Given the description of an element on the screen output the (x, y) to click on. 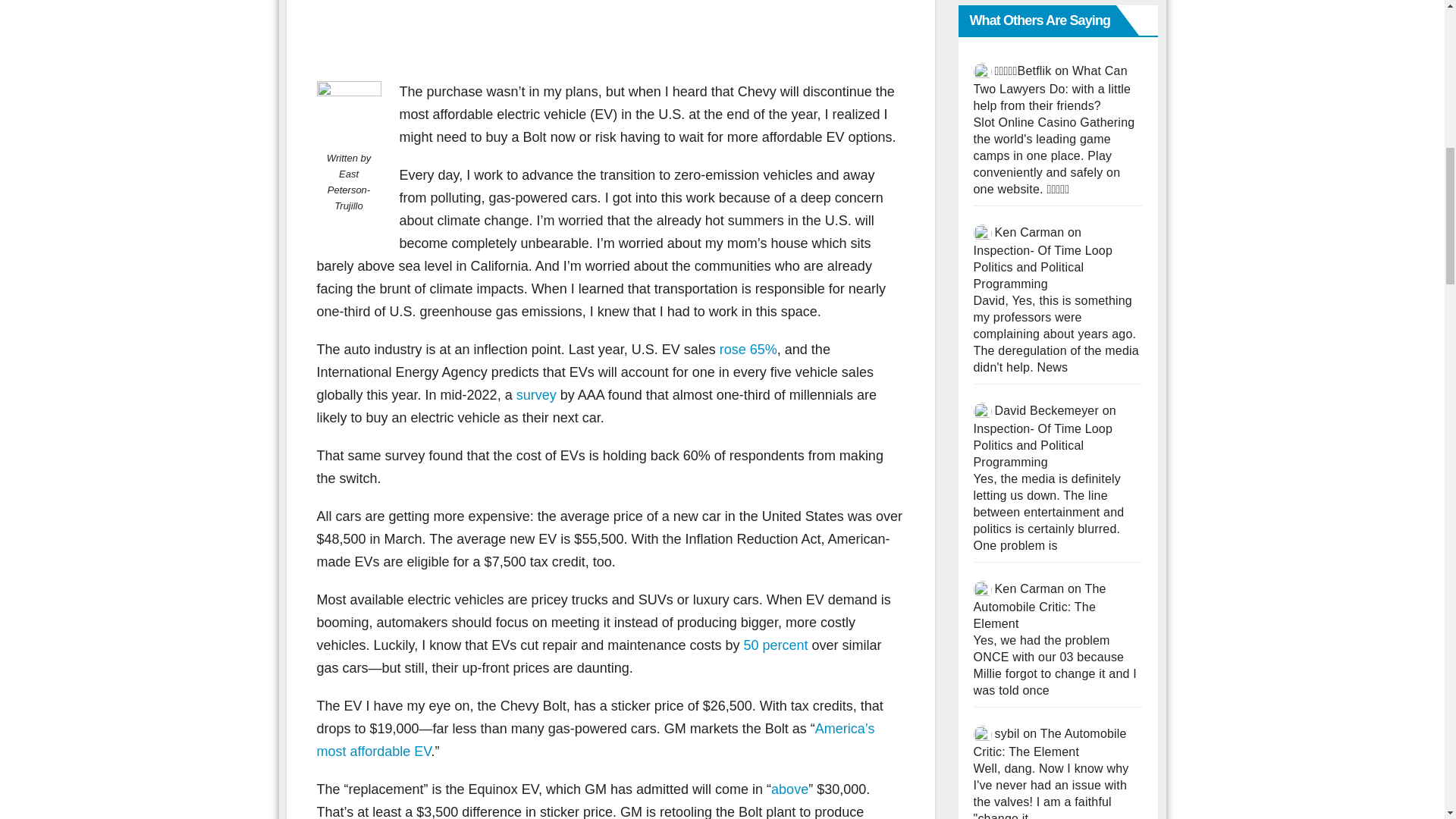
above (789, 789)
50 percent (775, 645)
survey (536, 394)
